Given the description of an element on the screen output the (x, y) to click on. 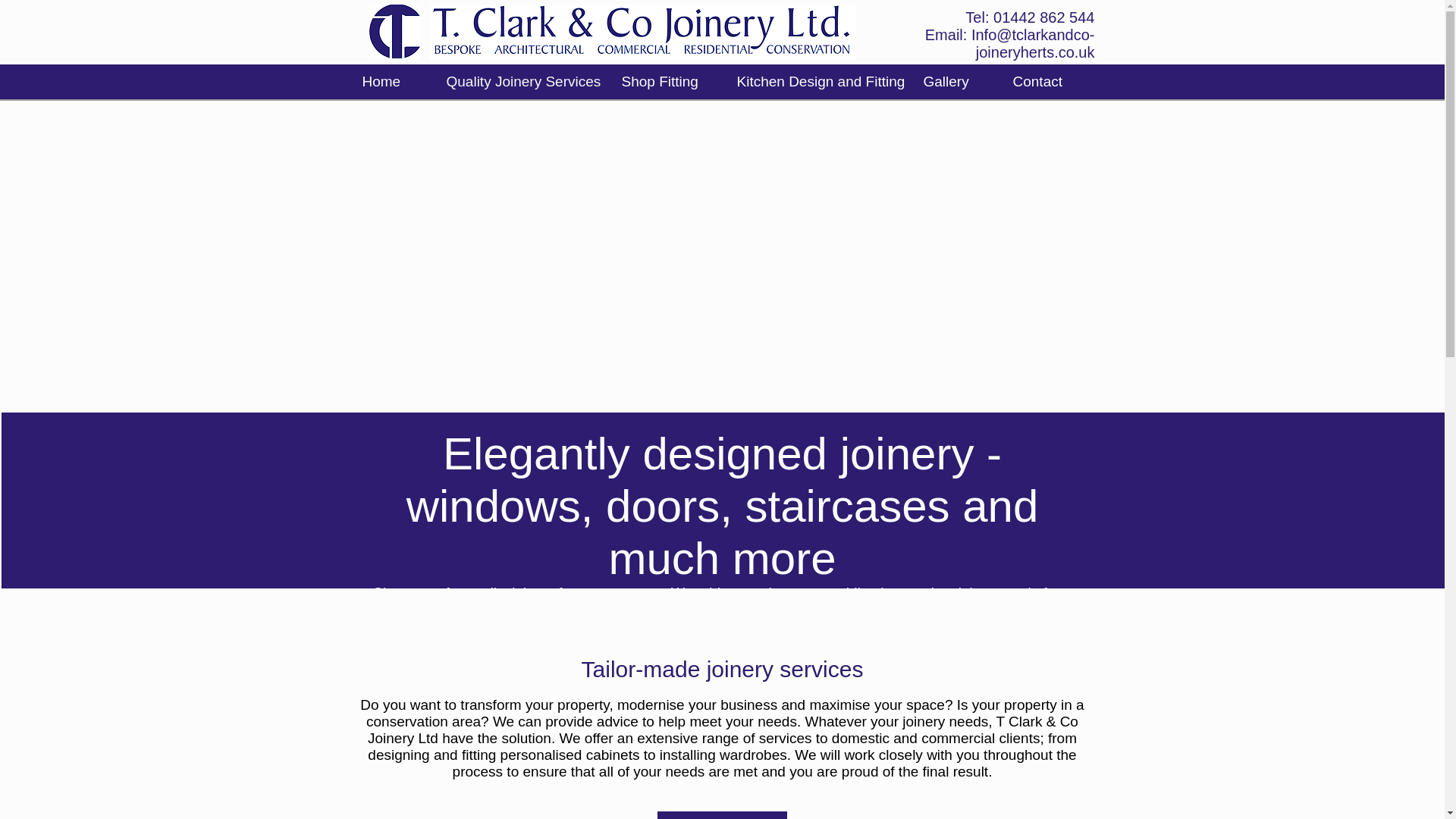
Quality Joinery Services (522, 81)
Talk to the experts (721, 815)
Capture.PNG (642, 31)
Gallery (956, 81)
Contact (1047, 81)
Kitchen Design and Fitting (818, 81)
Home (391, 81)
Logo.PNG (394, 31)
Shop Fitting (667, 81)
